Given the description of an element on the screen output the (x, y) to click on. 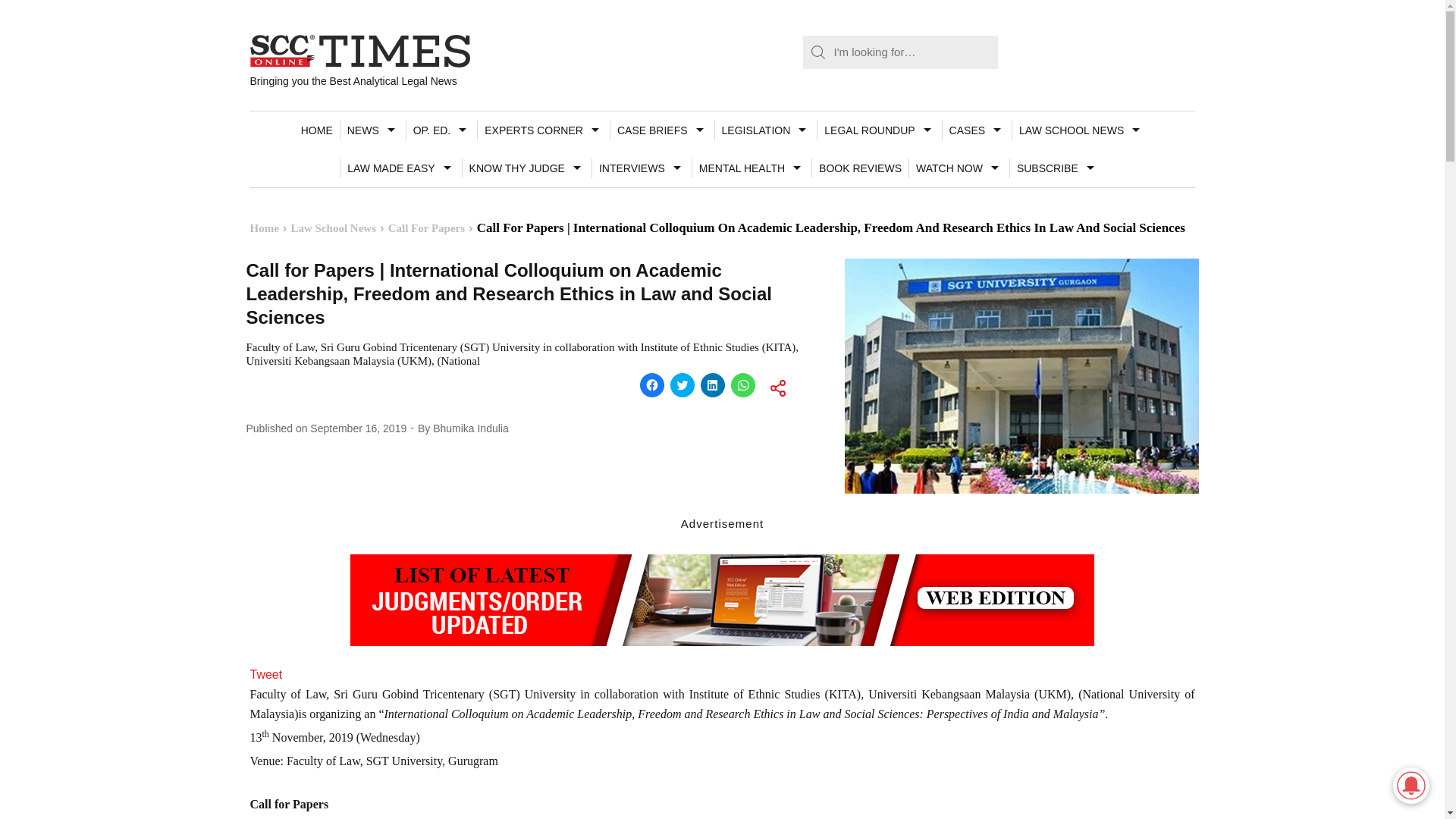
Click to share on WhatsApp (742, 385)
HOME (316, 130)
Click to share on LinkedIn (712, 385)
Click to share on Twitter (681, 385)
NEWS (372, 130)
OP. ED. (441, 130)
CASE BRIEFS (662, 130)
EXPERTS CORNER (543, 130)
Click to share on Facebook (651, 385)
